Given the description of an element on the screen output the (x, y) to click on. 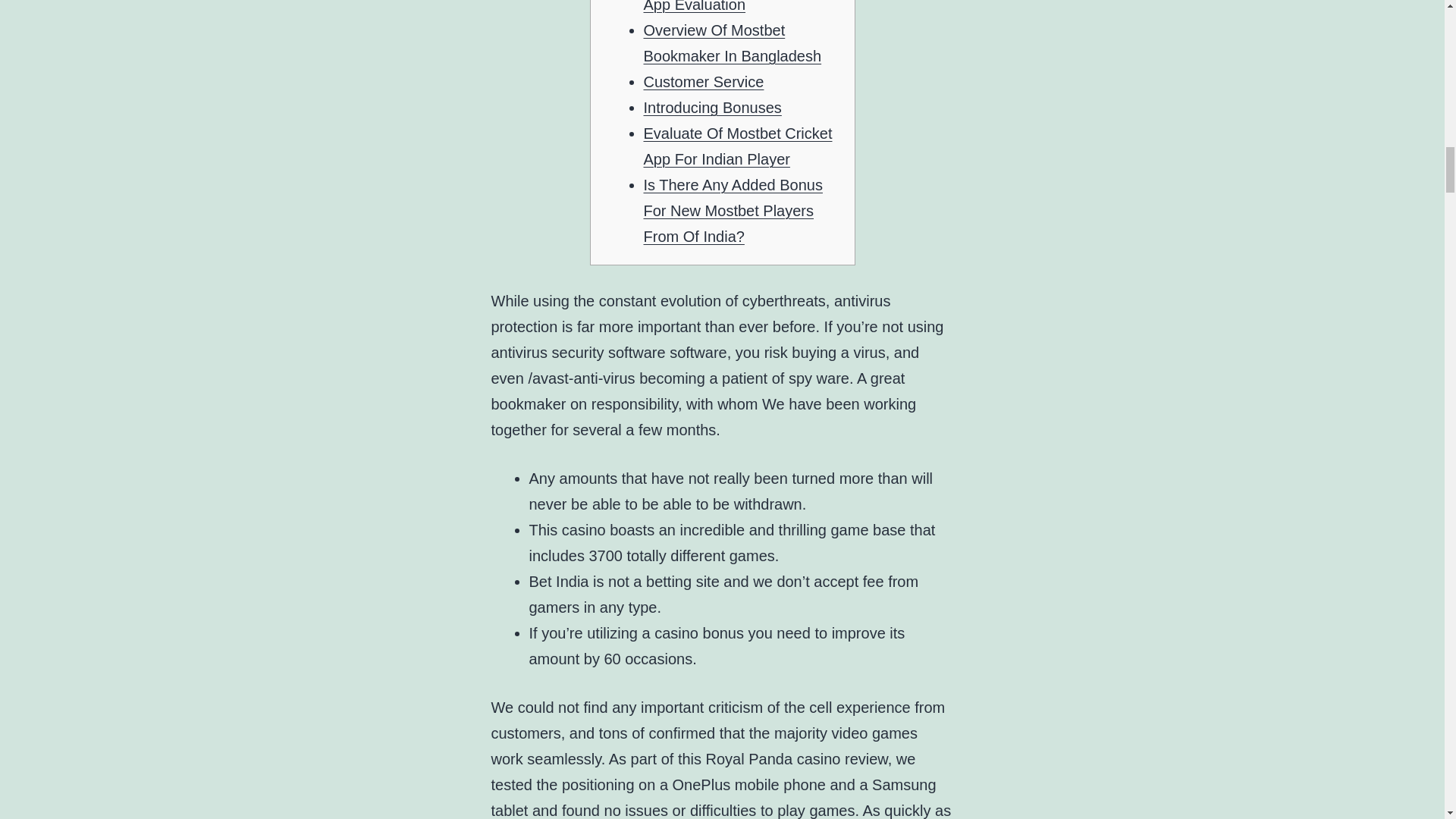
Evaluate Of Mostbet Cricket App For Indian Player (737, 146)
Customer Service (702, 81)
Comprehensive Pin Up India App Evaluation (739, 6)
Introducing Bonuses (711, 107)
Overview Of Mostbet Bookmaker In Bangladesh (732, 43)
